Given the description of an element on the screen output the (x, y) to click on. 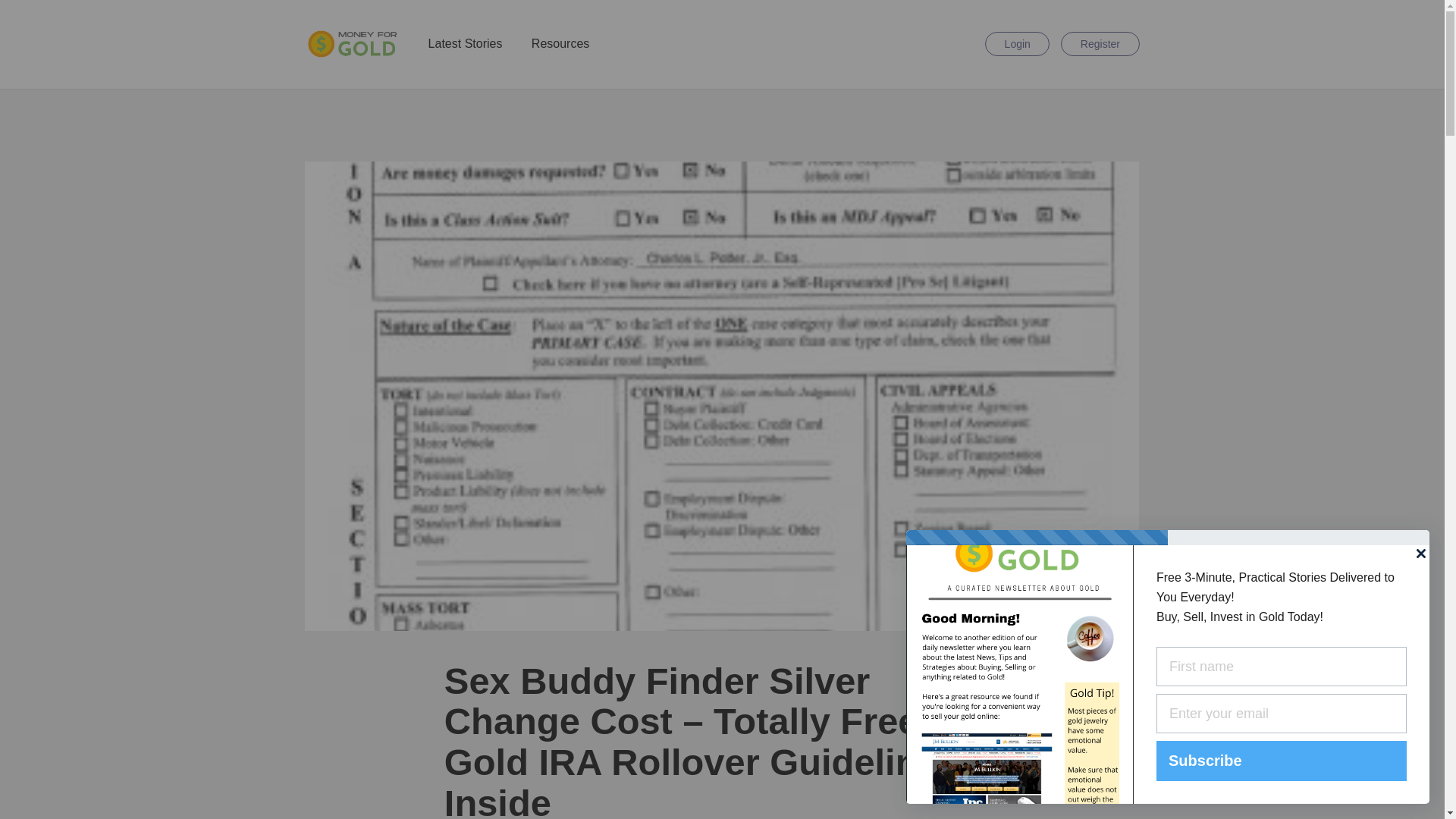
Latest Stories (465, 44)
MoneyForGold.com (351, 43)
Resources (560, 44)
Search (966, 43)
Login (1017, 43)
Register (1099, 43)
